Given the description of an element on the screen output the (x, y) to click on. 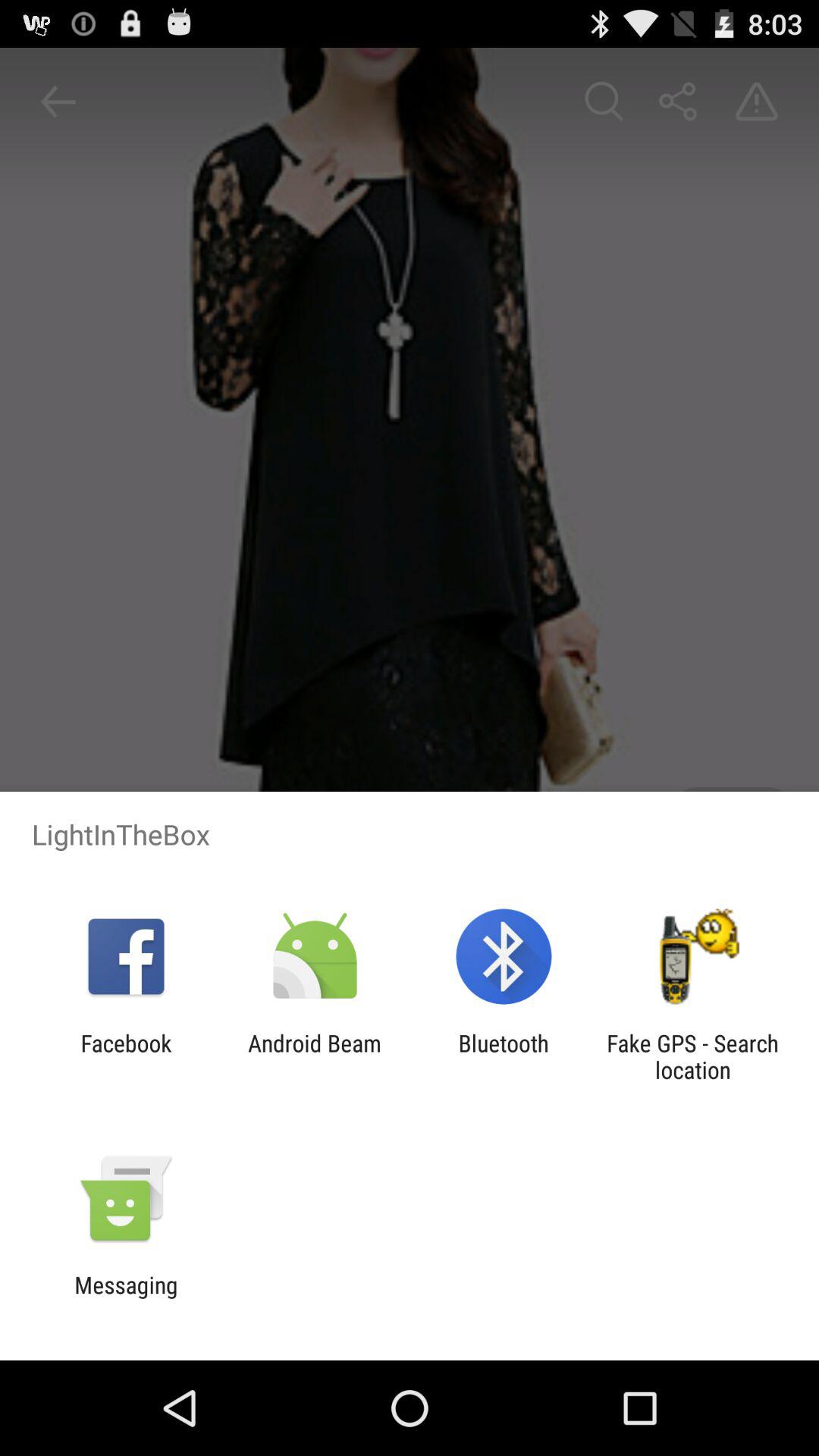
turn on the item to the left of the fake gps search icon (503, 1056)
